Given the description of an element on the screen output the (x, y) to click on. 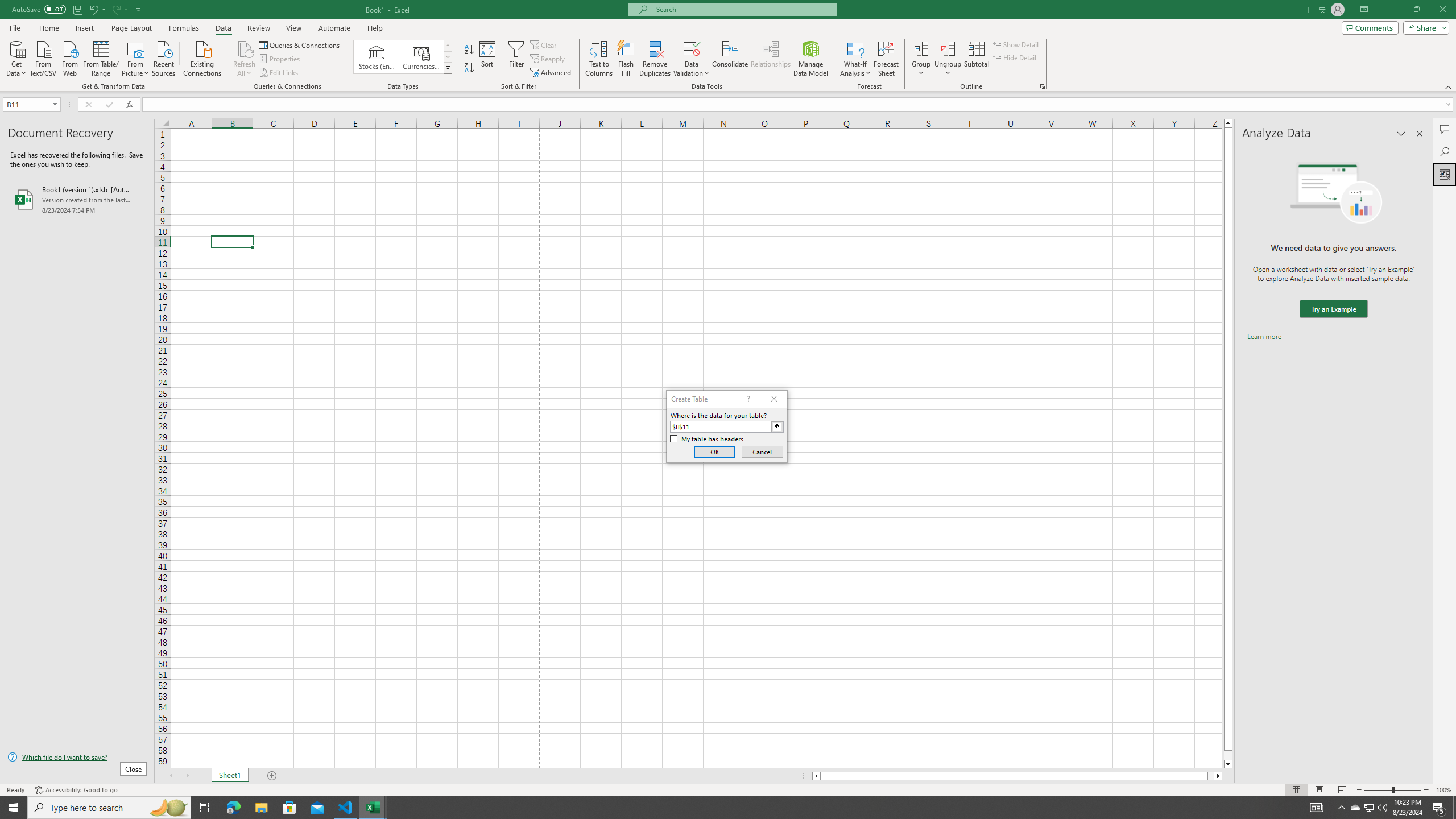
We need data to give you answers. Try an Example (1333, 308)
Currencies (English) (420, 56)
Stocks (English) (375, 56)
Sort A to Z (469, 49)
Search (1444, 151)
